Given the description of an element on the screen output the (x, y) to click on. 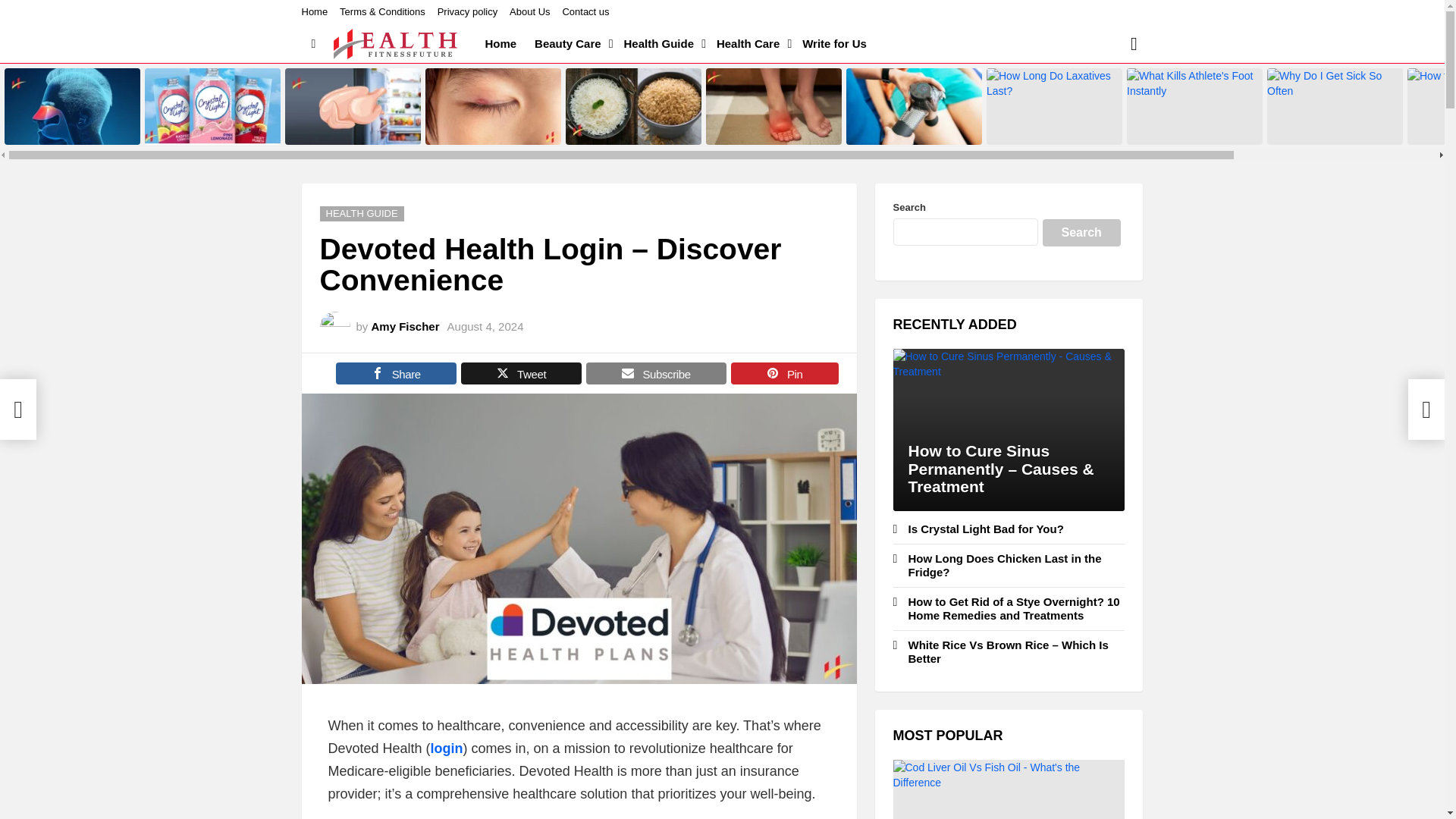
How Long Does Chicken Last in the Fridge? (352, 105)
Contact us (585, 12)
Write for Us (834, 43)
Health Care (750, 43)
Privacy policy (467, 12)
Menu (313, 44)
Home (500, 43)
Pain on Top of Foot: Causes and Treatments (773, 105)
What Is Vibration Therapy? A Comprehensive Guide (913, 105)
Home (315, 12)
